Given the description of an element on the screen output the (x, y) to click on. 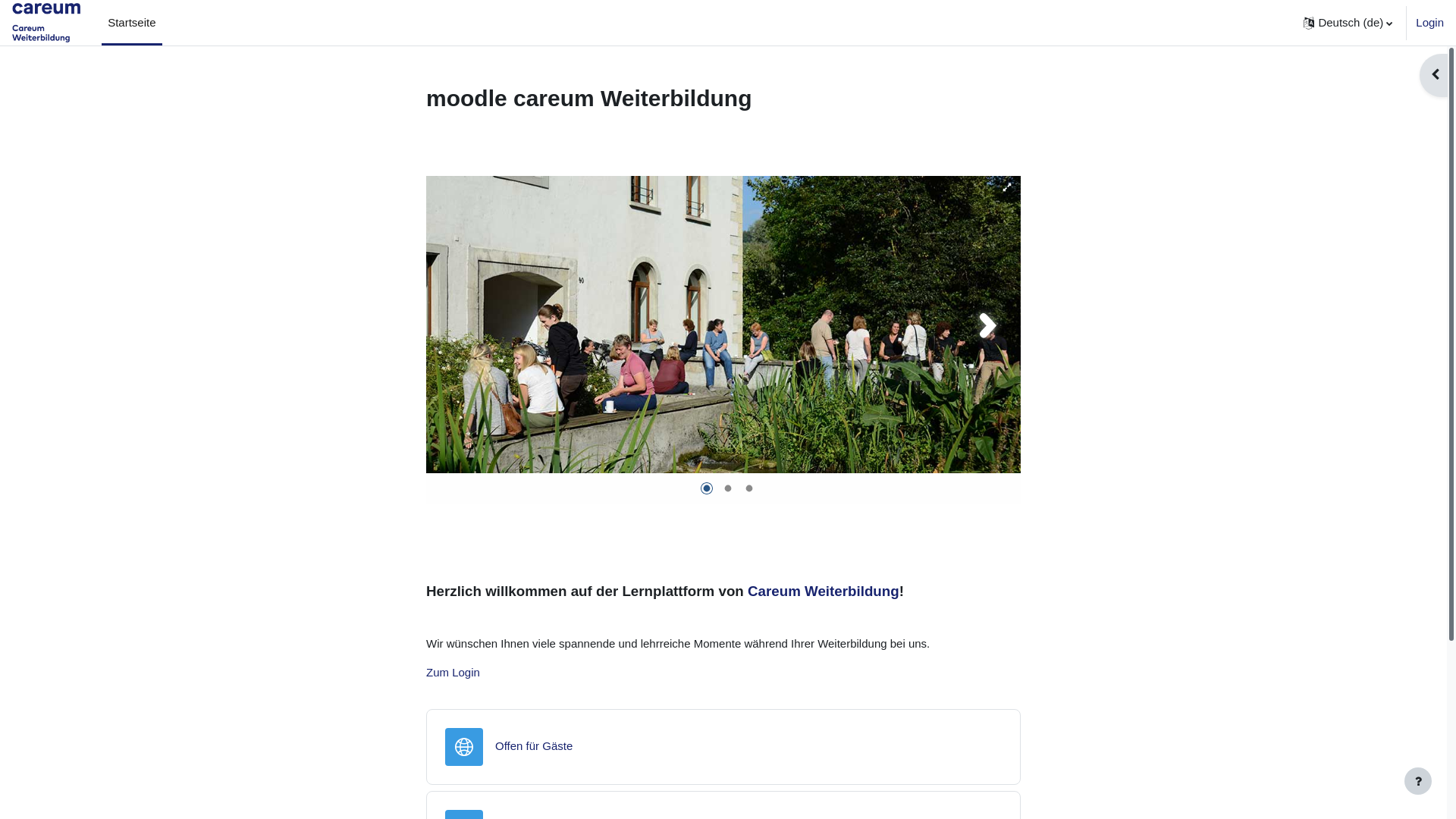
Startseite Element type: text (131, 22)
Zum Login Element type: text (453, 671)
Careum Weiterbildung Element type: text (823, 590)
Login Element type: text (1429, 22)
Deutsch (de) Element type: text (1347, 22)
